Given the description of an element on the screen output the (x, y) to click on. 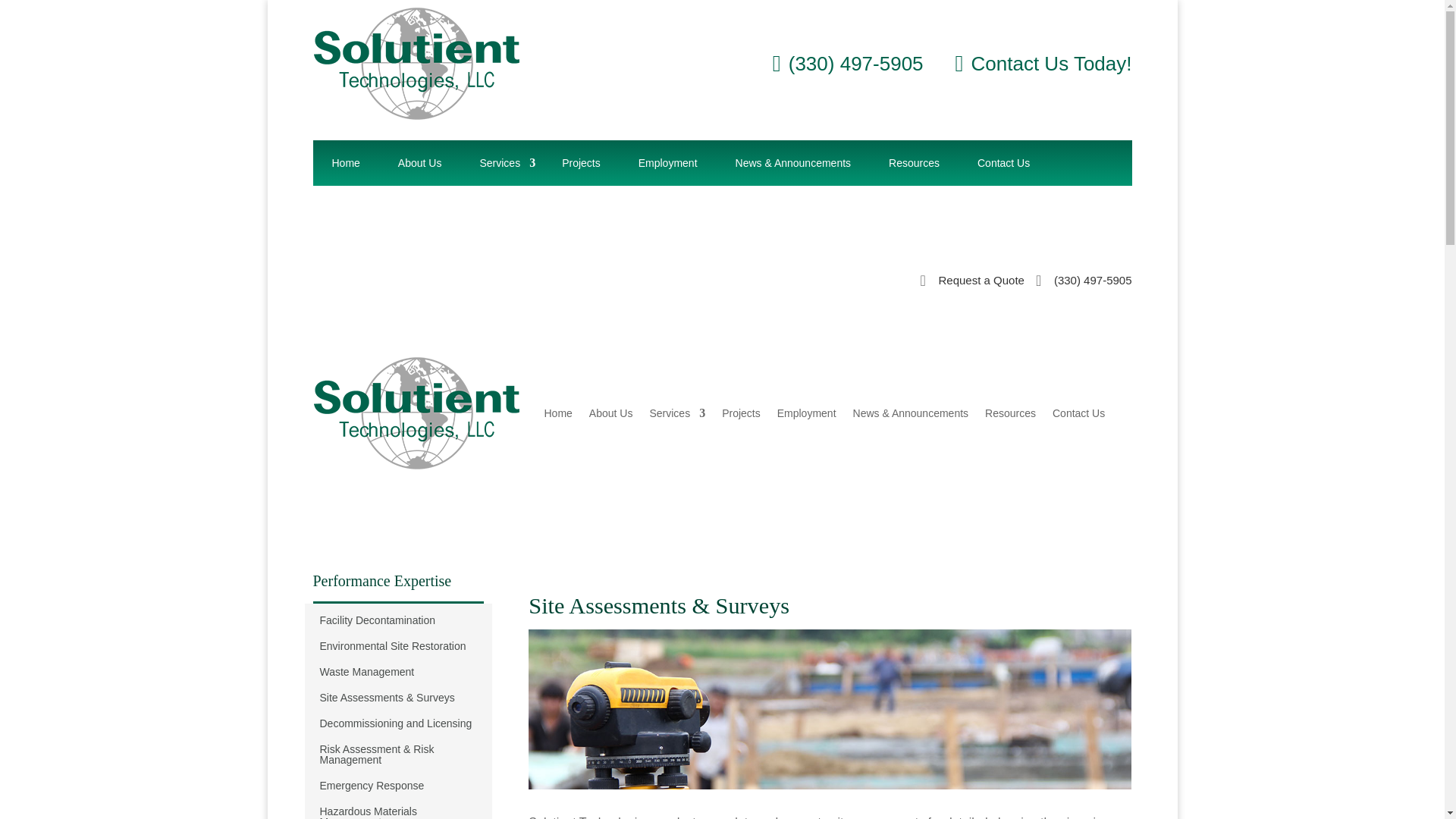
Services (501, 162)
About Us (419, 162)
Contact Us Today! (1043, 63)
Projects (581, 162)
Contact Us (1003, 162)
Home (345, 162)
Employment (668, 162)
Resources (913, 162)
